Given the description of an element on the screen output the (x, y) to click on. 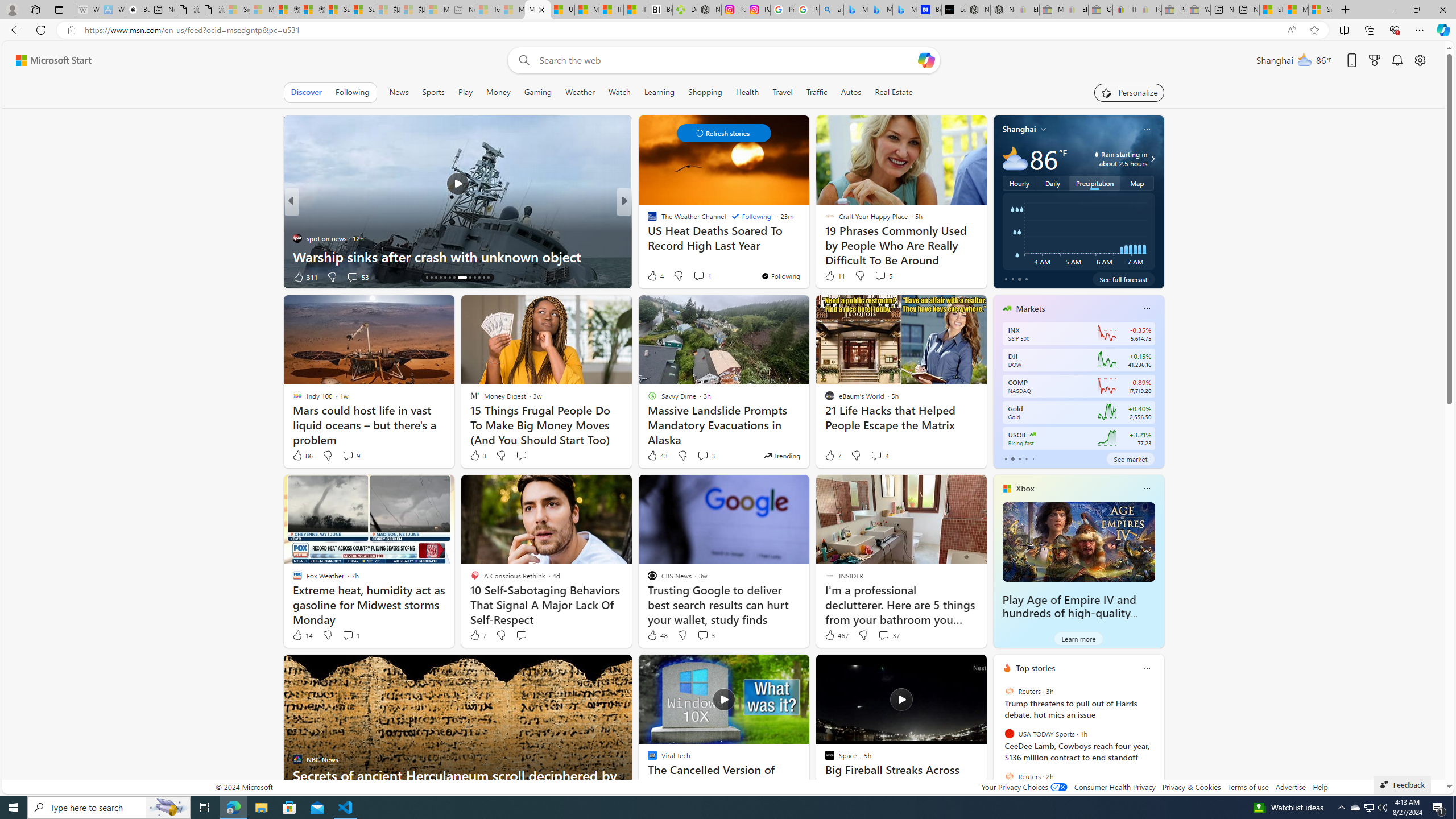
AutomationID: tab-16 (435, 277)
Daily (1052, 183)
Markets (1030, 308)
spot on news (296, 238)
AutomationID: tab-24 (478, 277)
View comments 37 Comment (888, 634)
View comments 3 Comment (705, 634)
13 Like (652, 276)
Learn more (1078, 638)
AutomationID: tab-18 (444, 277)
See market (1130, 459)
